Given the description of an element on the screen output the (x, y) to click on. 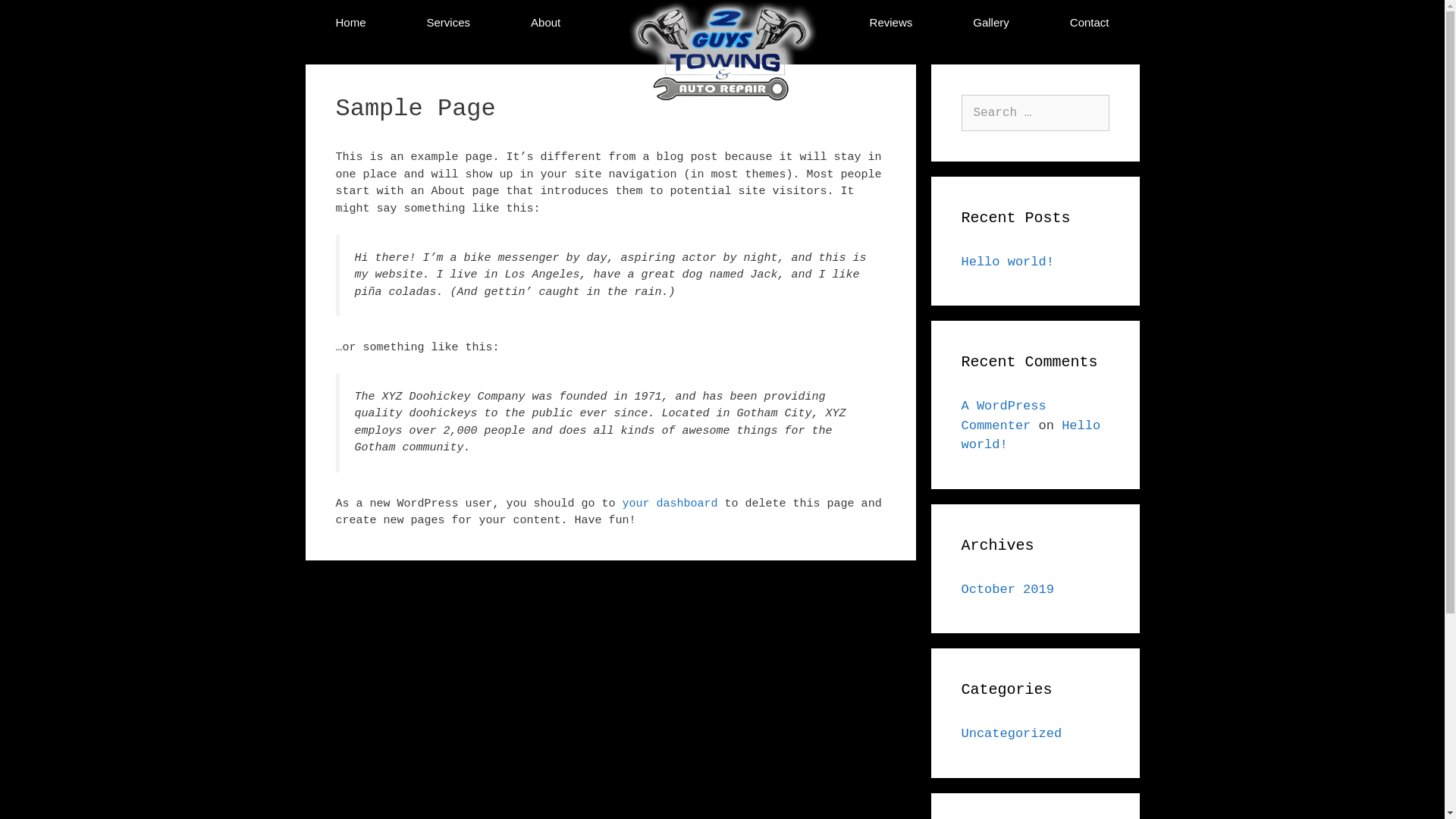
Reviews Element type: text (891, 24)
Gallery Element type: text (990, 24)
A WordPress Commenter Element type: text (1003, 415)
Home Element type: text (349, 24)
Search Element type: text (39, 18)
Seperator Element type: text (714, 24)
Services Element type: text (448, 24)
Hello world! Element type: text (1031, 435)
October 2019 Element type: text (1007, 589)
Uncategorized Element type: text (1011, 733)
About Element type: text (545, 24)
2 Guys Towing & Auto Repair Element type: hover (722, 78)
Search for: Element type: hover (1035, 112)
Contact Element type: text (1089, 24)
Hello world! Element type: text (1007, 261)
Skip to content Element type: text (0, 0)
your dashboard Element type: text (670, 503)
2 Guys Towing & Auto Repair Element type: hover (722, 54)
